Given the description of an element on the screen output the (x, y) to click on. 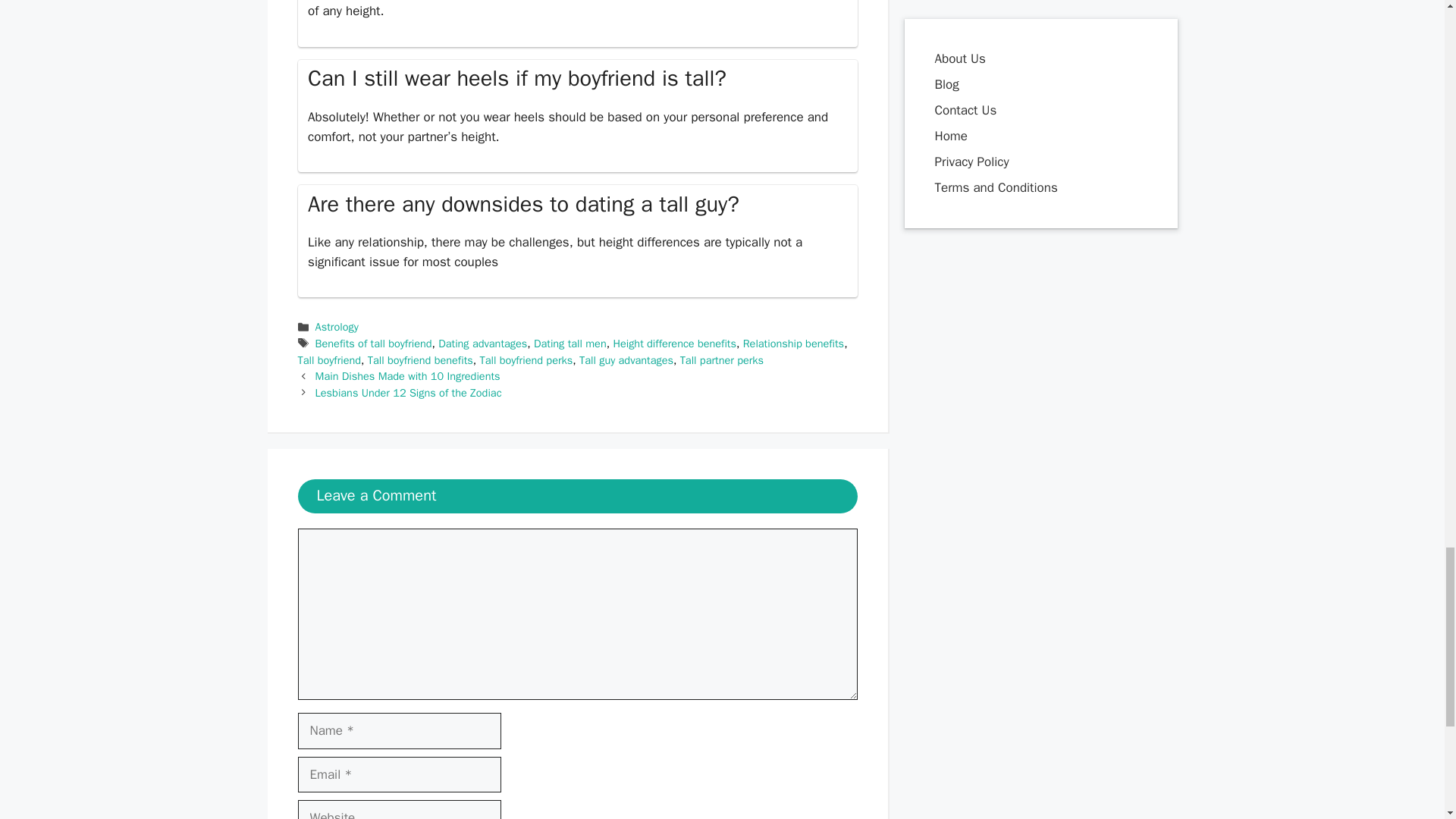
Benefits of tall boyfriend (373, 343)
Tall boyfriend benefits (420, 359)
Dating tall men (570, 343)
Height difference benefits (674, 343)
Tall boyfriend (329, 359)
Relationship benefits (793, 343)
Tall boyfriend perks (525, 359)
Tall guy advantages (625, 359)
Dating advantages (482, 343)
Tall partner perks (720, 359)
Lesbians Under 12 Signs of the Zodiac (408, 392)
Main Dishes Made with 10 Ingredients (407, 376)
Astrology (336, 326)
